Given the description of an element on the screen output the (x, y) to click on. 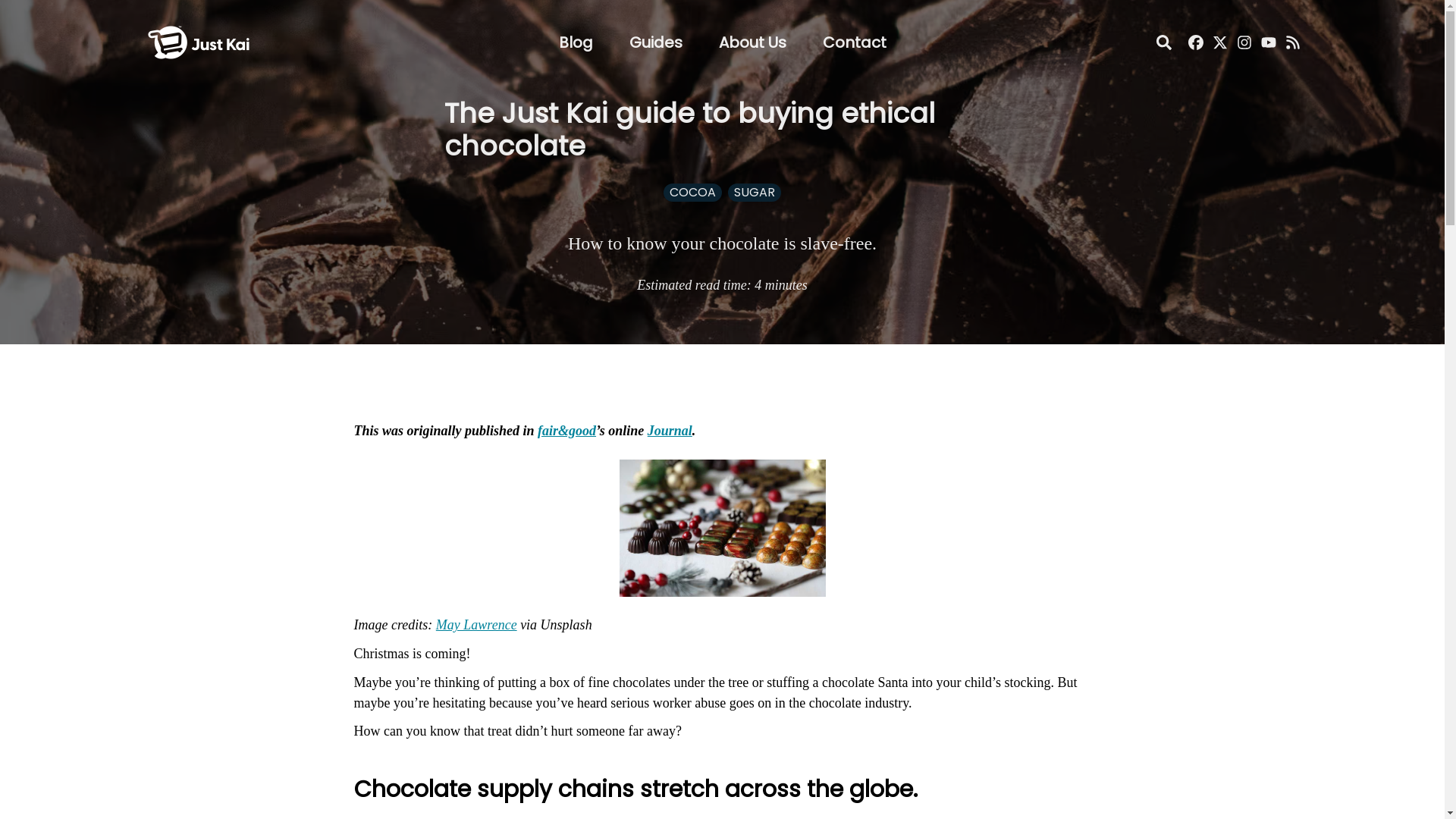
pralines with holly berries (721, 528)
Just Kai on X (1219, 42)
Just Kai Instagram (1243, 42)
COCOA (692, 192)
Just Kai RSS (1292, 42)
SUGAR (754, 192)
Blog (574, 42)
May Lawrence (475, 624)
About Us (752, 42)
Just Kai YouTube (1267, 42)
Just Kai Facebook (1195, 42)
Guides (655, 42)
Journal (670, 430)
Contact (853, 42)
Just Kai Home Page (197, 23)
